Given the description of an element on the screen output the (x, y) to click on. 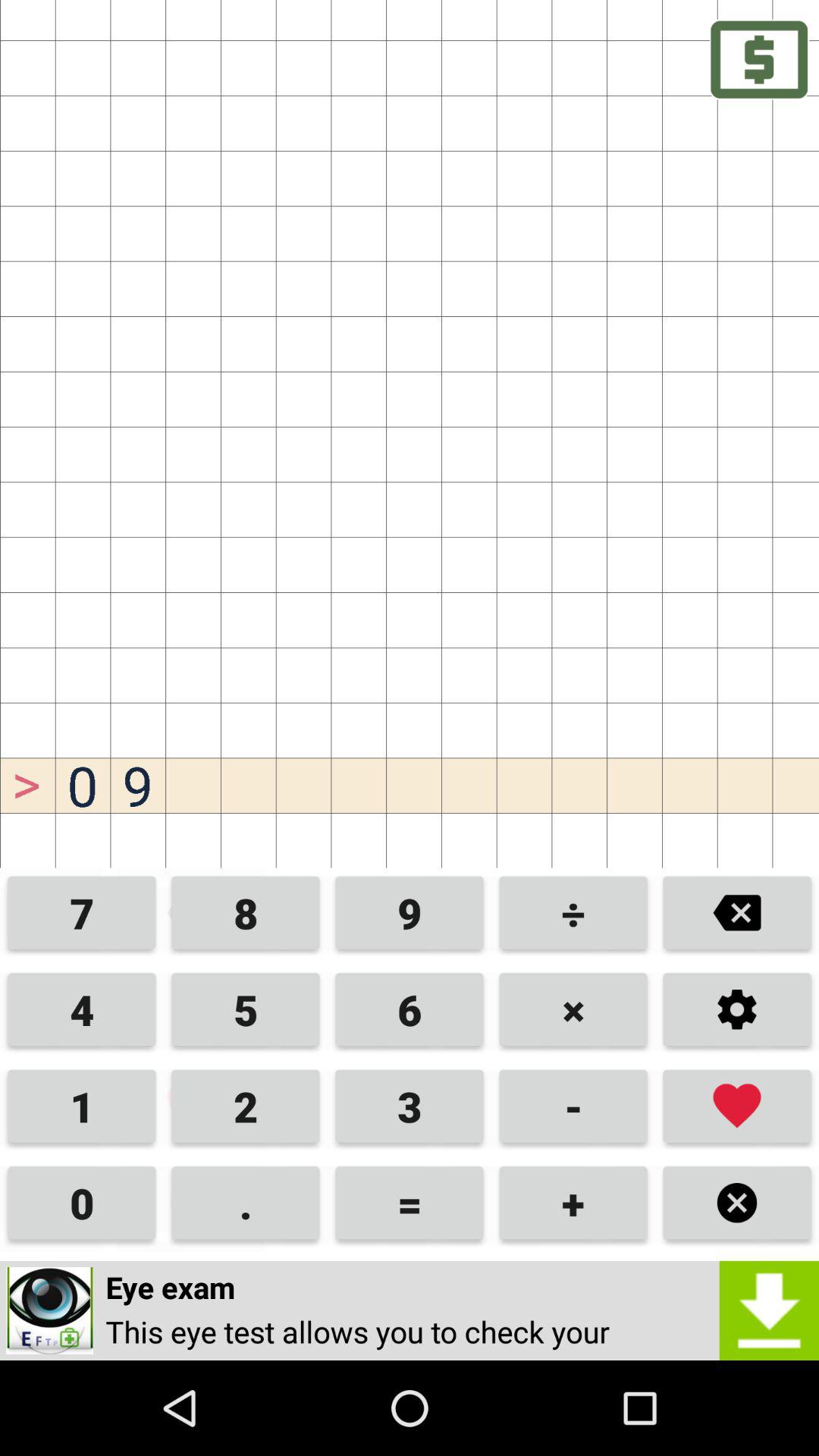
favorites (737, 1105)
